Given the description of an element on the screen output the (x, y) to click on. 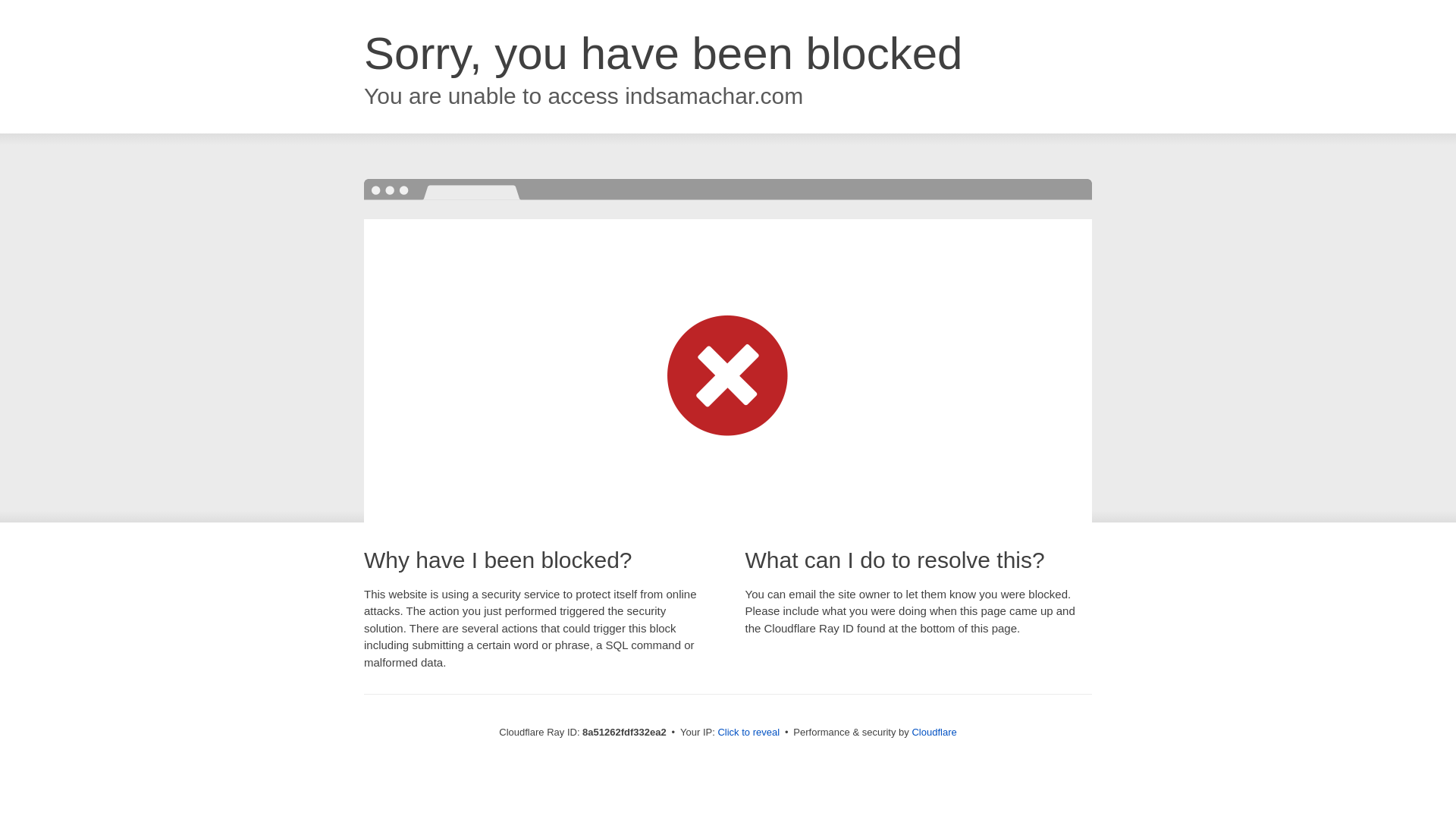
Click to reveal (747, 732)
Cloudflare (933, 731)
